Given the description of an element on the screen output the (x, y) to click on. 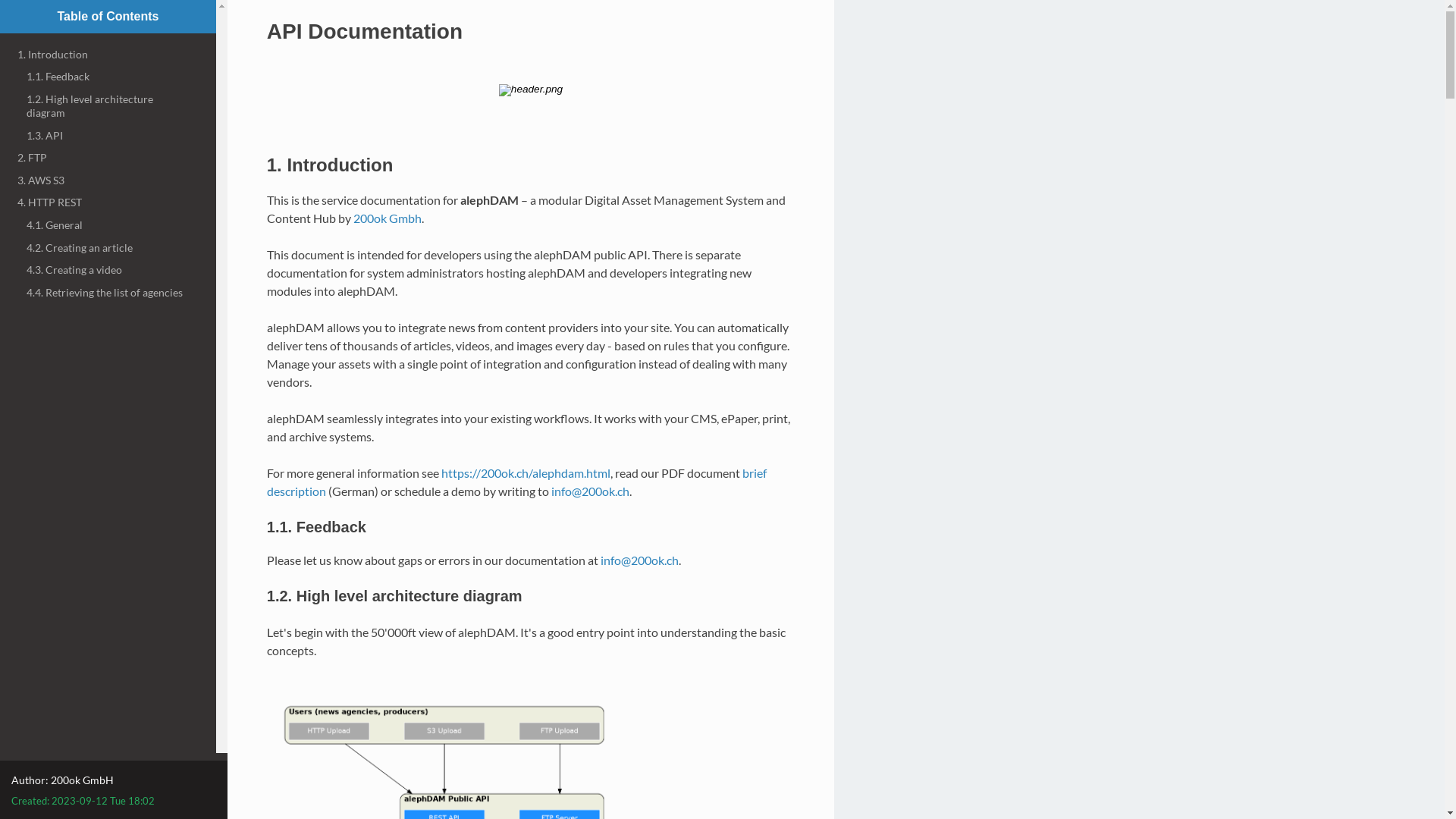
4.3. Creating a video Element type: text (108, 269)
https://200ok.ch/alephdam.html Element type: text (525, 472)
3. AWS S3 Element type: text (108, 180)
4. HTTP REST Element type: text (108, 202)
1. Introduction Element type: text (108, 54)
info@200ok.ch Element type: text (590, 490)
1.1. Feedback Element type: text (108, 76)
4.1. General Element type: text (108, 224)
info@200ok.ch Element type: text (639, 559)
4.2. Creating an article Element type: text (108, 247)
1.3. API Element type: text (108, 135)
200ok Gmbh Element type: text (387, 217)
brief description Element type: text (516, 481)
1.2. High level architecture diagram Element type: text (108, 105)
4.4. Retrieving the list of agencies Element type: text (108, 292)
2. FTP Element type: text (108, 157)
